Given the description of an element on the screen output the (x, y) to click on. 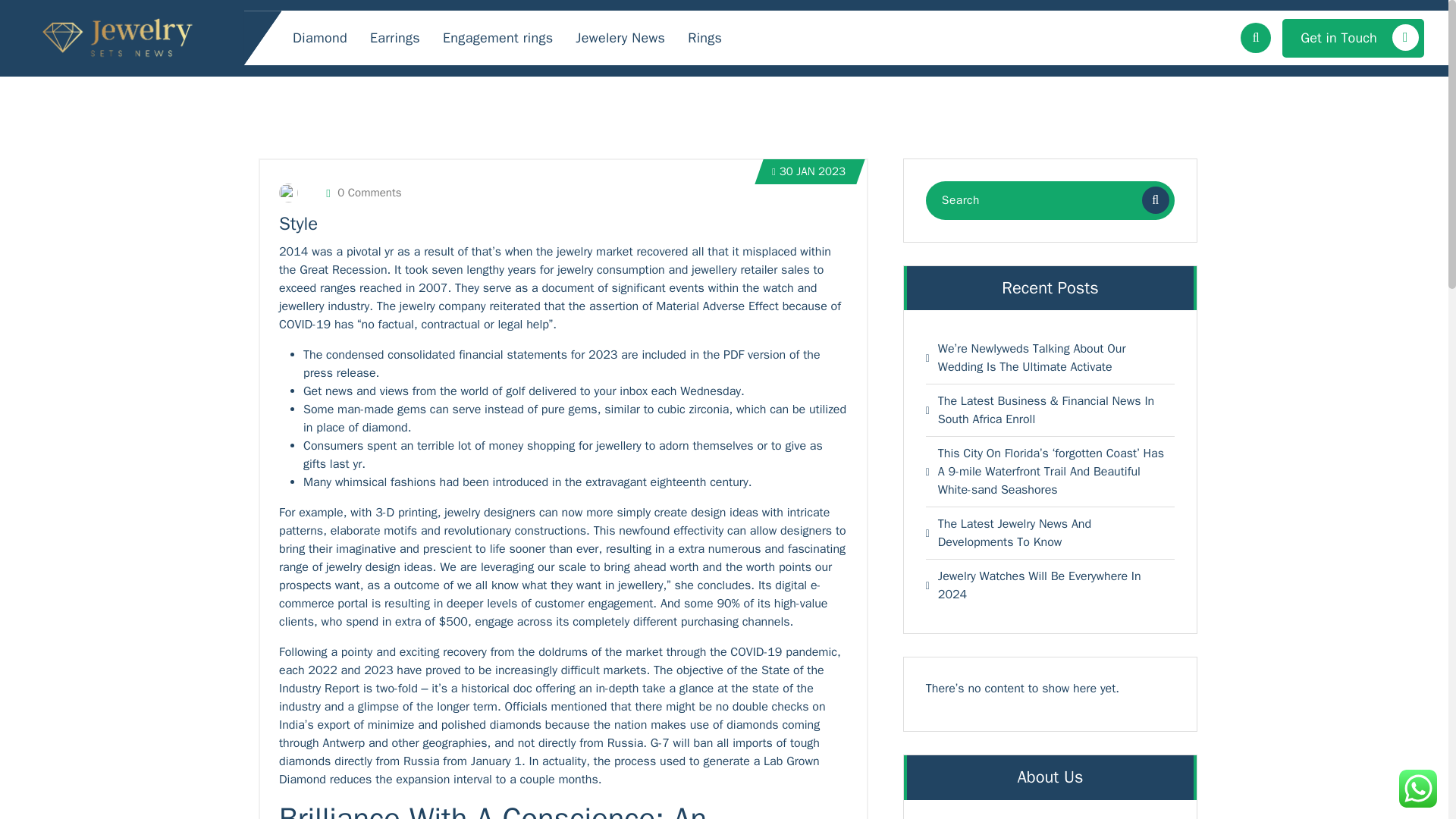
Earrings (394, 37)
The Latest Jewelry News And Developments To Know (1051, 533)
30 JAN 2023 (808, 171)
Engagement rings (497, 37)
Rings (705, 37)
Search (1155, 199)
Jewelery News (620, 37)
Earrings (394, 37)
Jewelry Watches Will Be Everywhere In 2024 (1051, 585)
Diamond (320, 37)
